Given the description of an element on the screen output the (x, y) to click on. 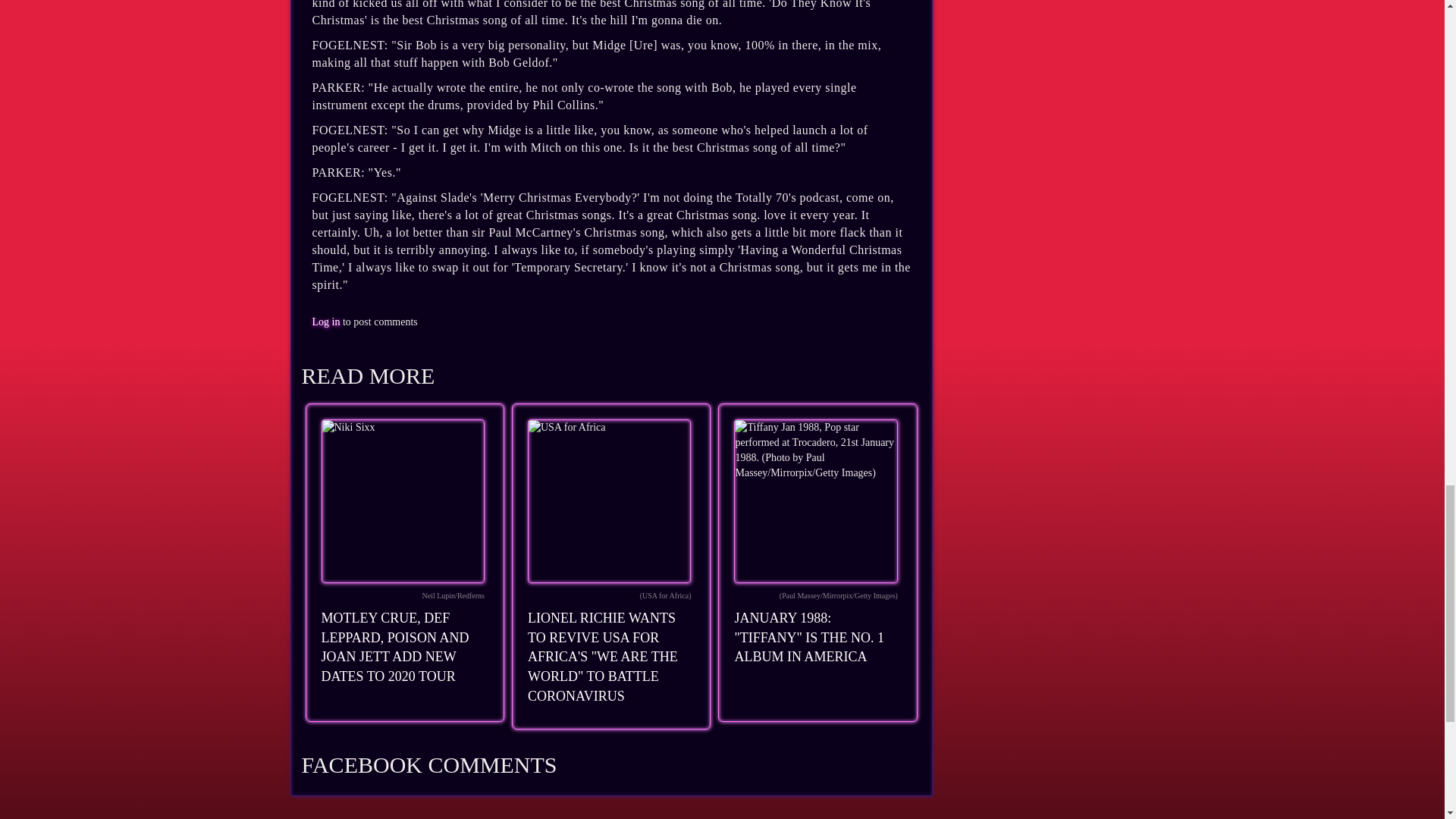
JANUARY 1988: "TIFFANY" IS THE NO. 1 ALBUM IN AMERICA (808, 637)
Log in (326, 321)
